Given the description of an element on the screen output the (x, y) to click on. 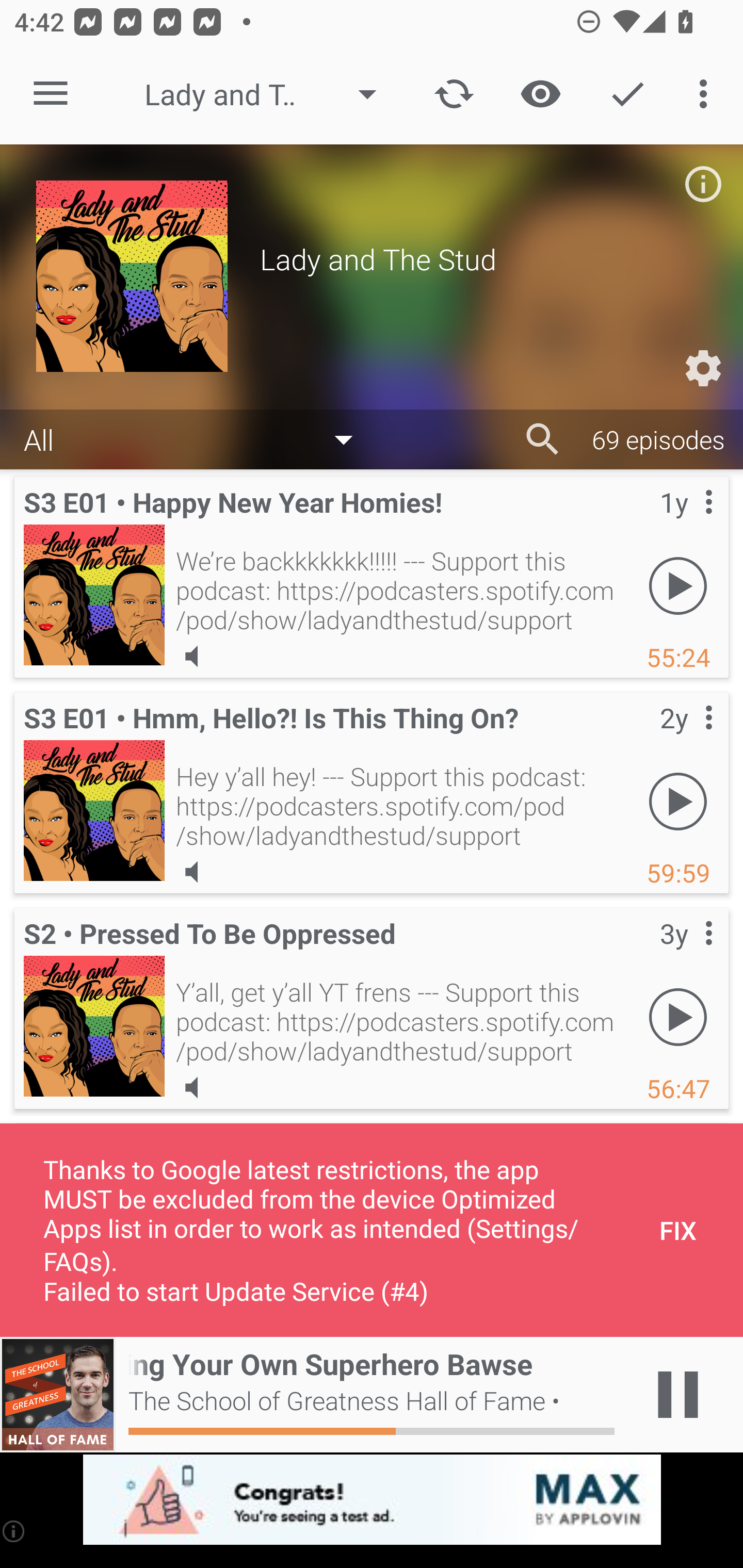
Open navigation sidebar (50, 93)
Update (453, 93)
Show / Hide played content (540, 93)
Action Mode (626, 93)
More options (706, 93)
Lady and The Stud (270, 94)
Podcast description (703, 184)
Custom Settings (703, 368)
Search (542, 439)
All (197, 438)
Contextual menu (685, 522)
Happy New Year Homies! (93, 594)
Play (677, 585)
Contextual menu (685, 738)
Hmm, Hello?! Is This Thing On? (93, 810)
Play (677, 801)
Contextual menu (685, 954)
Pressed To Be Oppressed (93, 1026)
Play (677, 1016)
FIX (677, 1229)
Play / Pause (677, 1394)
app-monetization (371, 1500)
(i) (14, 1531)
